Given the description of an element on the screen output the (x, y) to click on. 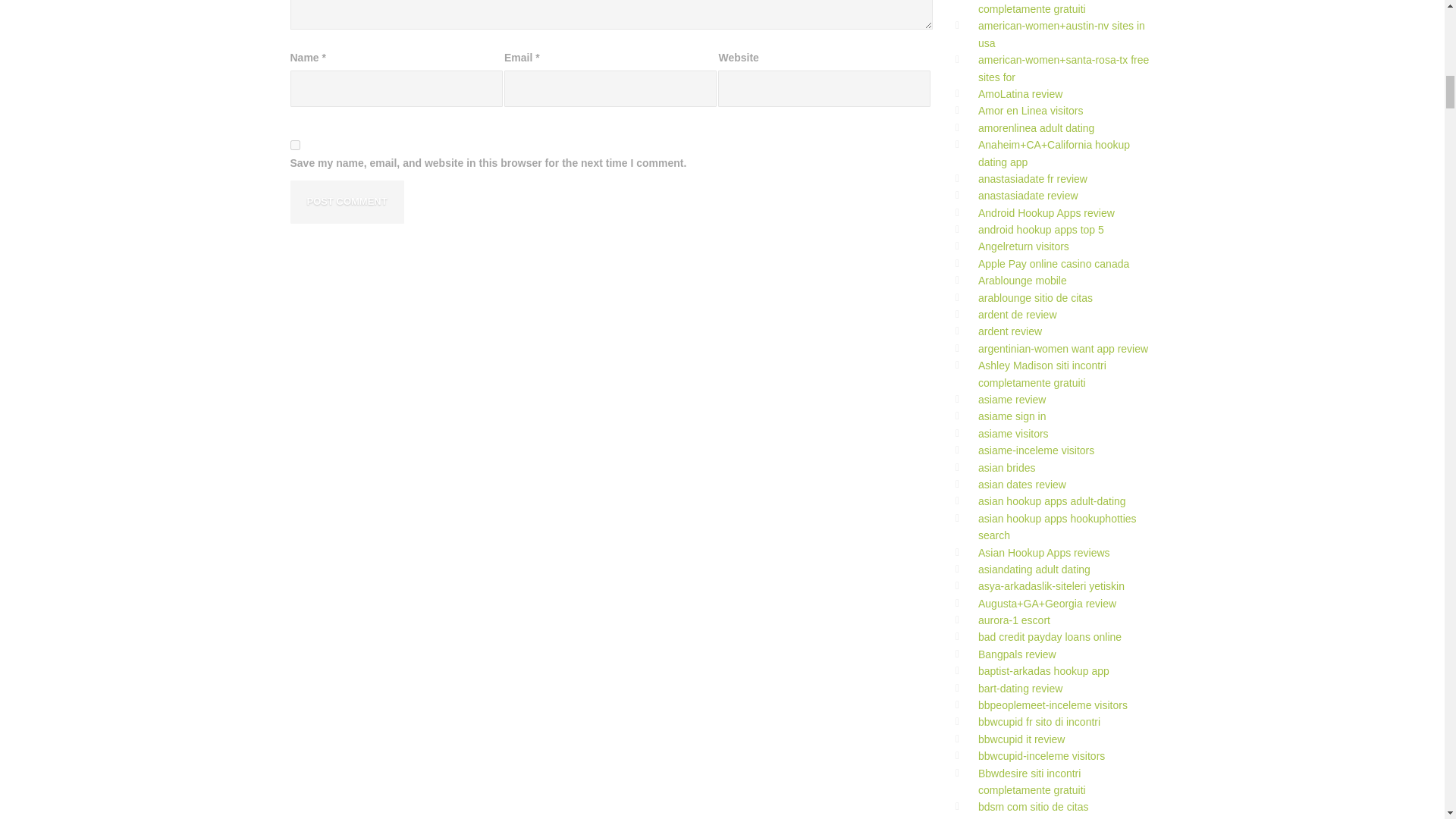
Post Comment (346, 201)
Post Comment (346, 201)
yes (294, 144)
